Given the description of an element on the screen output the (x, y) to click on. 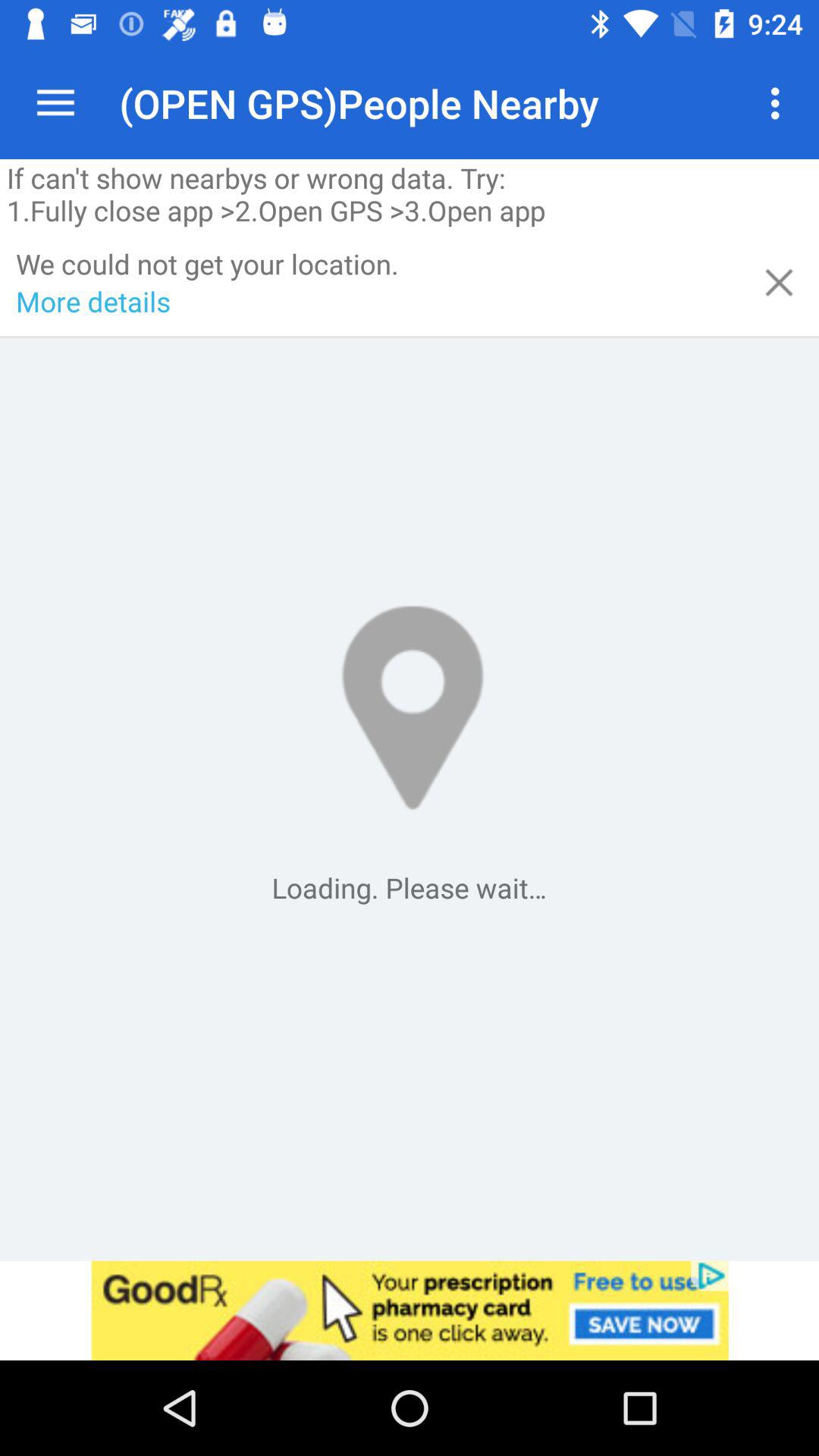
go to advertisement (409, 1310)
